Given the description of an element on the screen output the (x, y) to click on. 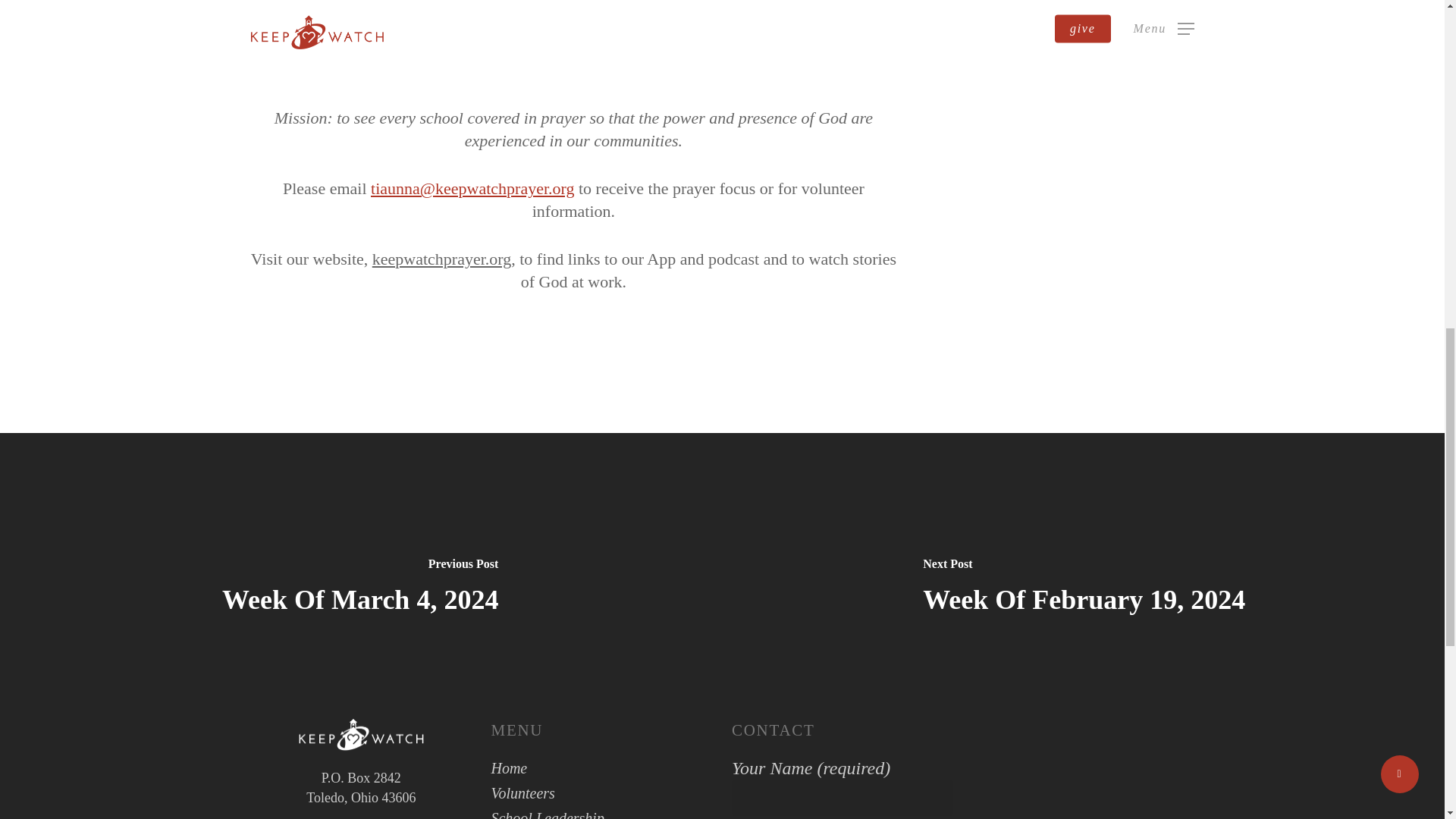
School Leadership (601, 814)
Home (601, 768)
Volunteers (601, 793)
